Given the description of an element on the screen output the (x, y) to click on. 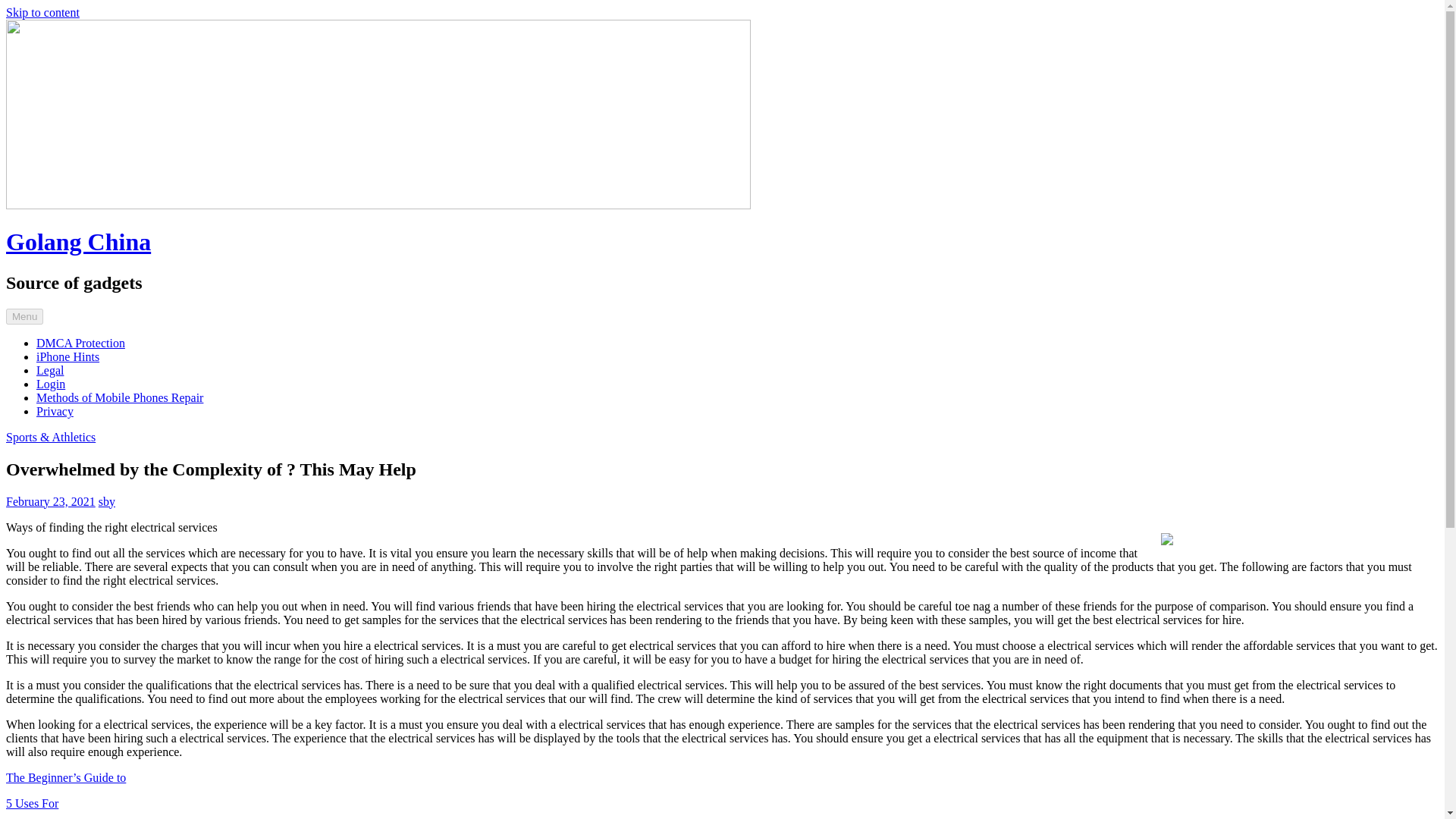
Login (50, 383)
Menu (24, 316)
Golang China (78, 241)
DMCA Protection (80, 342)
Methods of Mobile Phones Repair (119, 397)
February 23, 2021 (50, 501)
sby (107, 501)
Skip to content (42, 11)
5 Uses For (31, 802)
Privacy (55, 410)
Legal (50, 369)
iPhone Hints (67, 356)
